Given the description of an element on the screen output the (x, y) to click on. 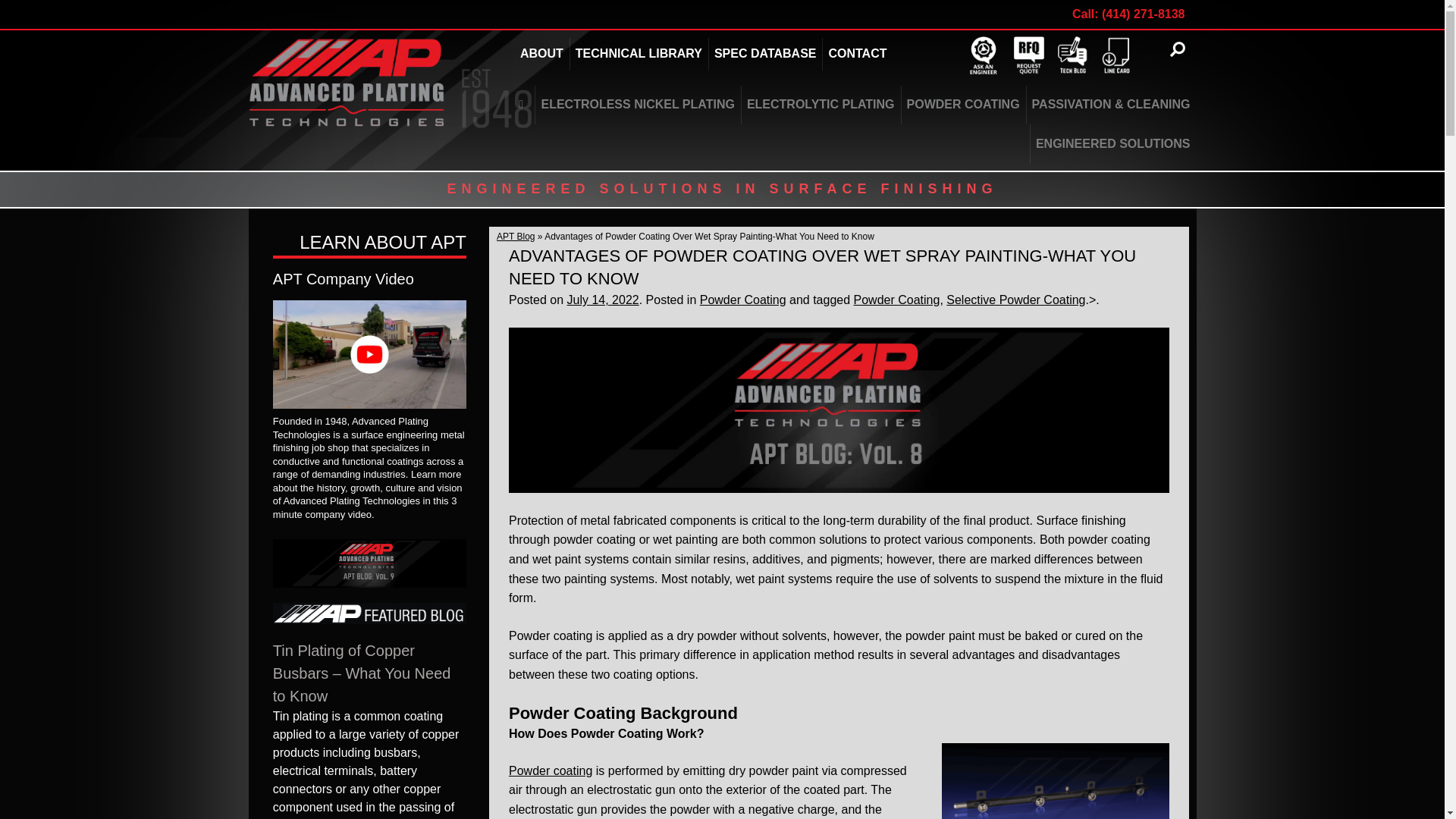
ELECTROLESS NICKEL PLATING (725, 53)
APT Technical Library (636, 104)
ABOUT (638, 53)
About APT (541, 53)
SPEC DATABASE (541, 53)
CONTACT (764, 53)
Advanced Plating Technologies (857, 53)
TECHNICAL LIBRARY (390, 82)
